Given the description of an element on the screen output the (x, y) to click on. 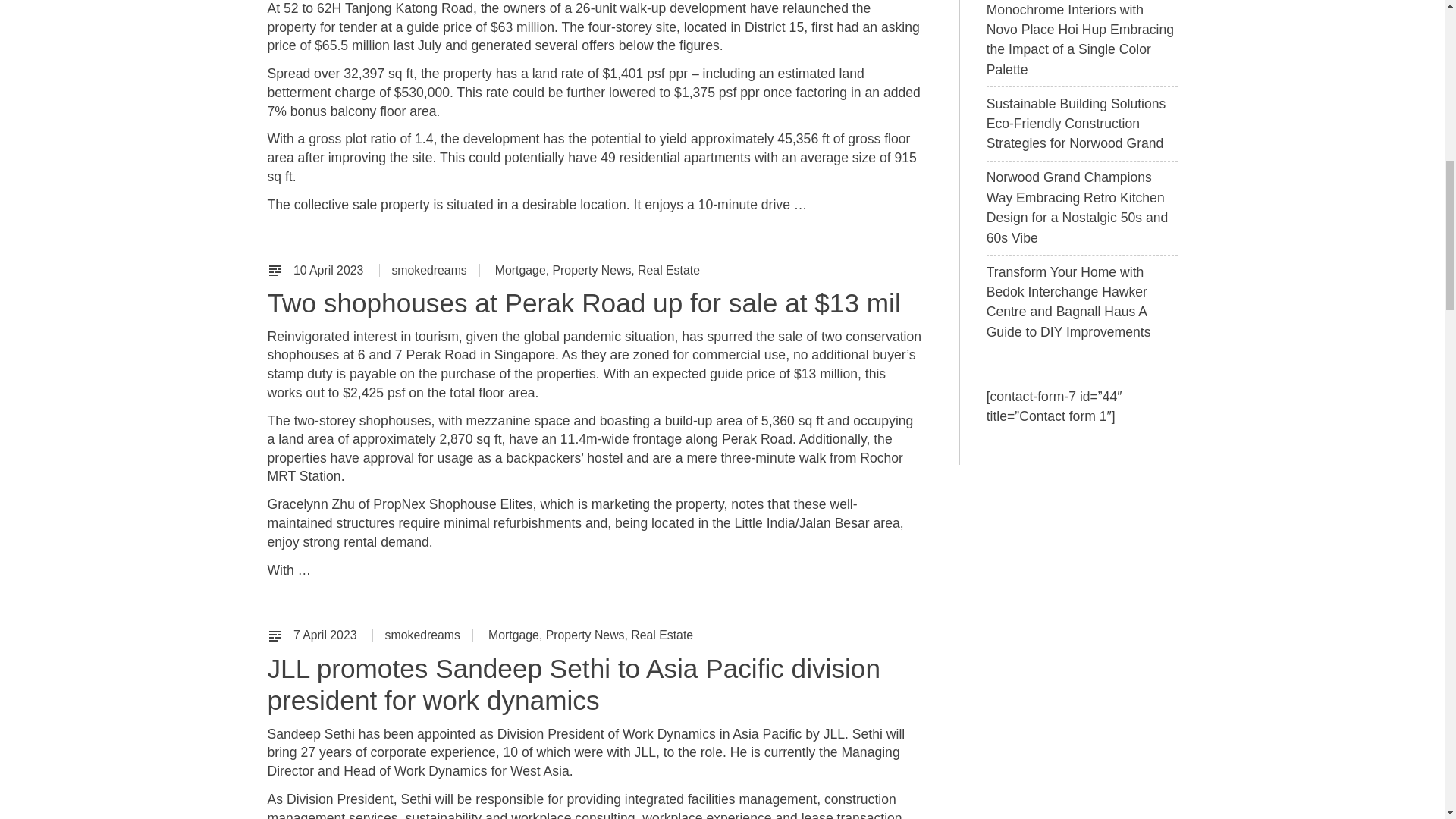
7 April 2023 (326, 634)
smokedreams (428, 269)
Property News (592, 269)
10 April 2023 (330, 269)
smokedreams (422, 634)
Property News (585, 634)
Mortgage (520, 269)
Mortgage (512, 634)
